Given the description of an element on the screen output the (x, y) to click on. 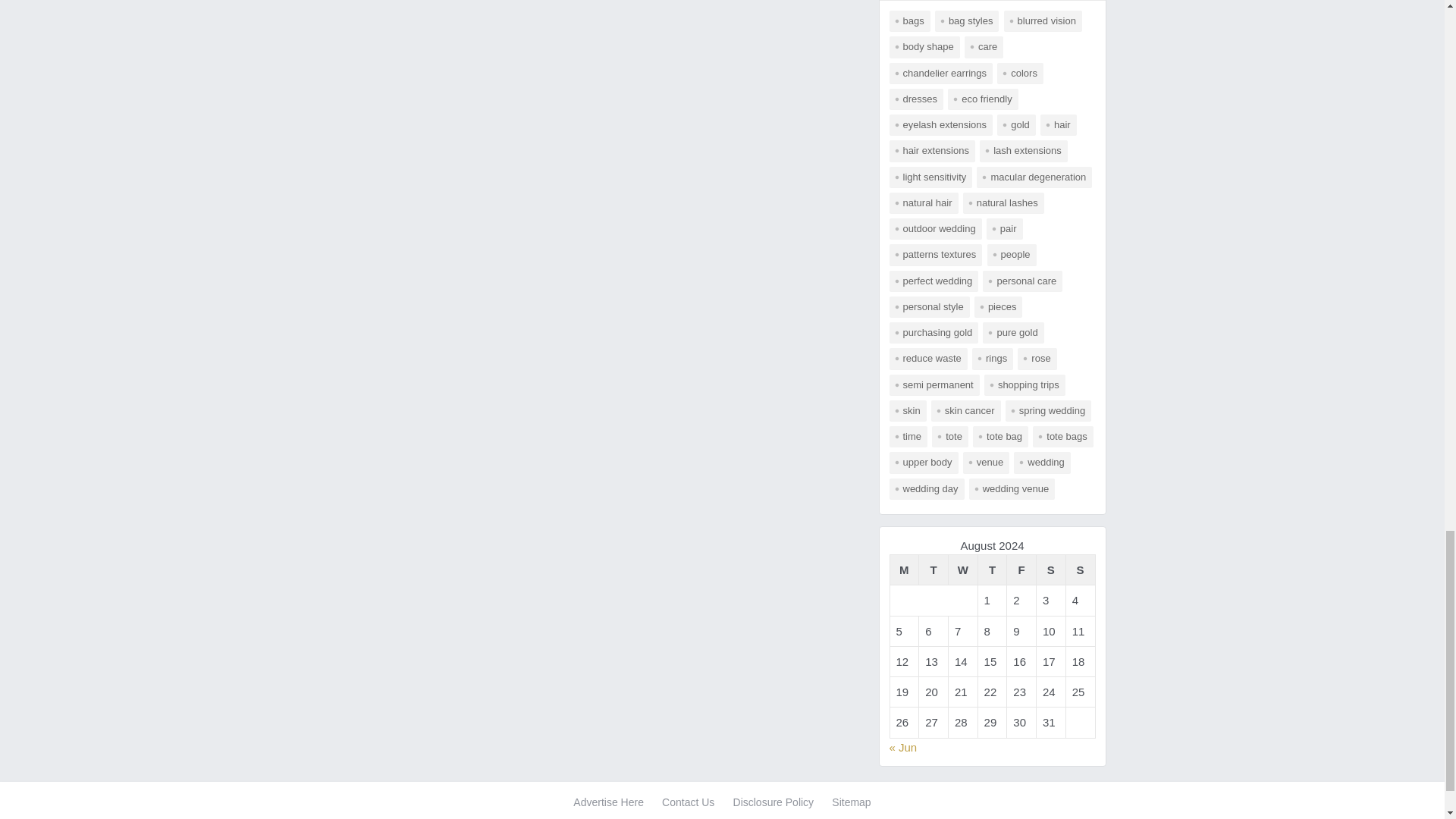
Monday (903, 570)
Tuesday (933, 570)
Wednesday (961, 570)
Thursday (991, 570)
Friday (1021, 570)
